Given the description of an element on the screen output the (x, y) to click on. 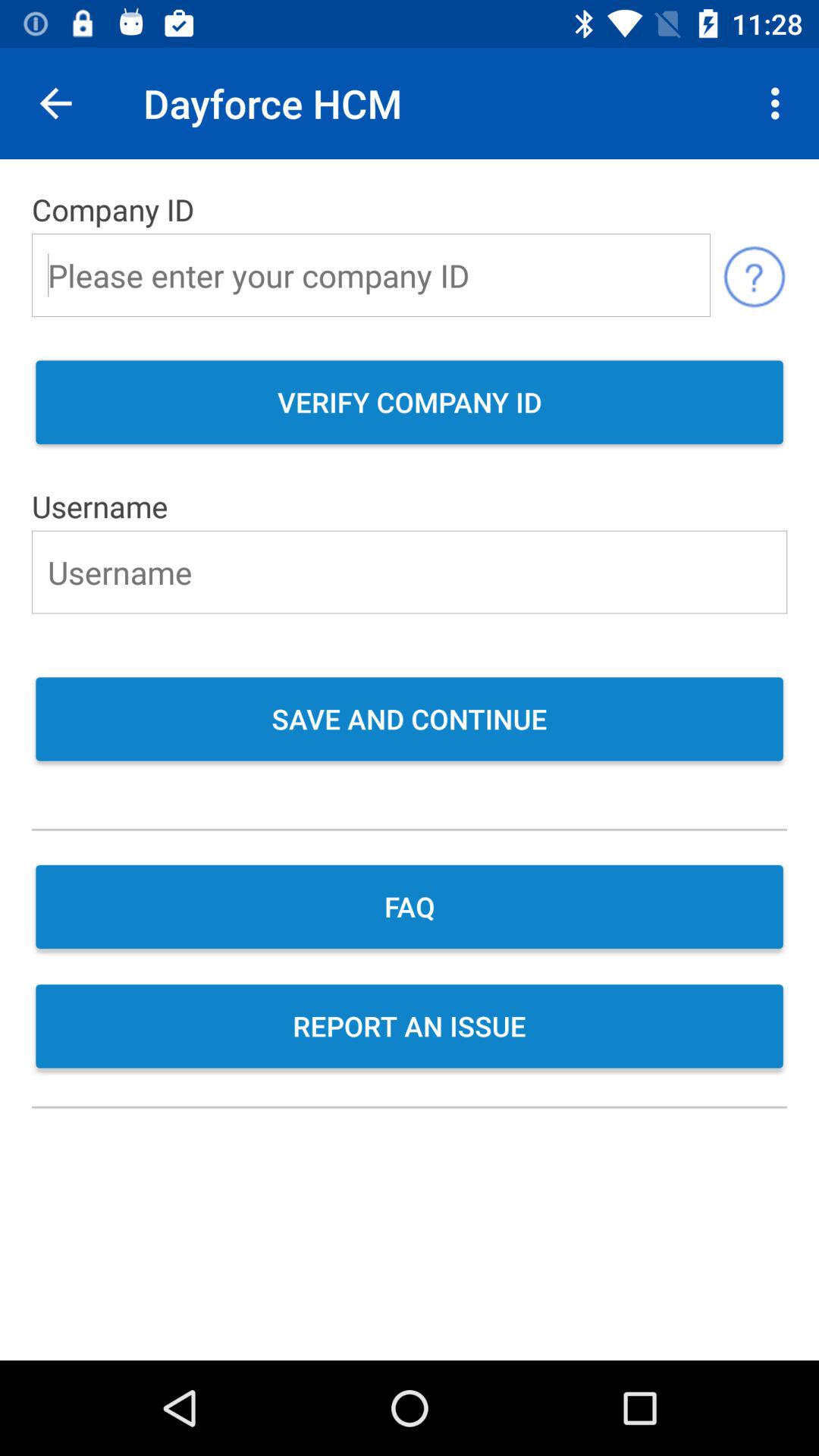
turn on the save and continue item (409, 720)
